Given the description of an element on the screen output the (x, y) to click on. 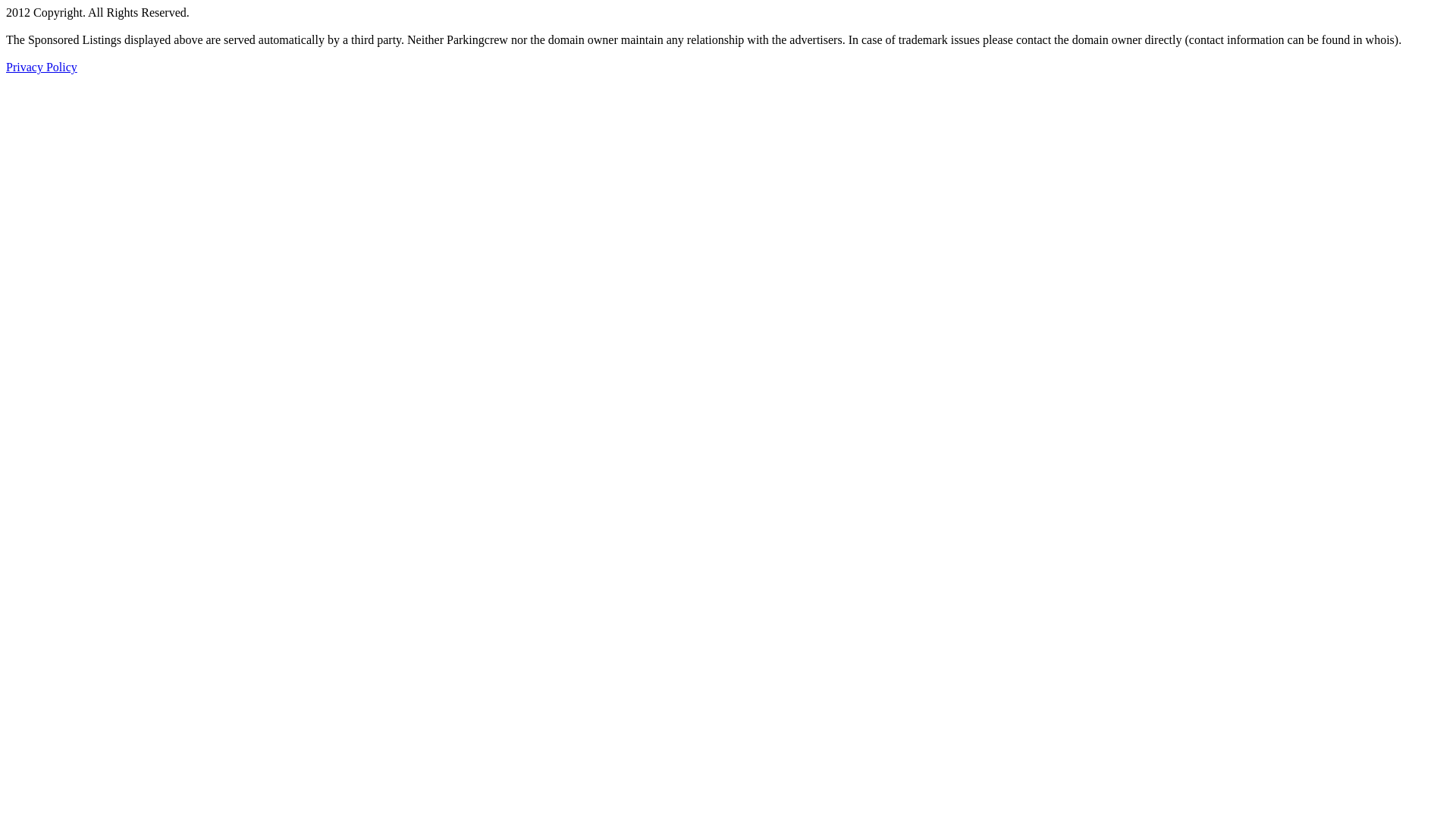
Privacy Policy Element type: text (41, 66)
